Given the description of an element on the screen output the (x, y) to click on. 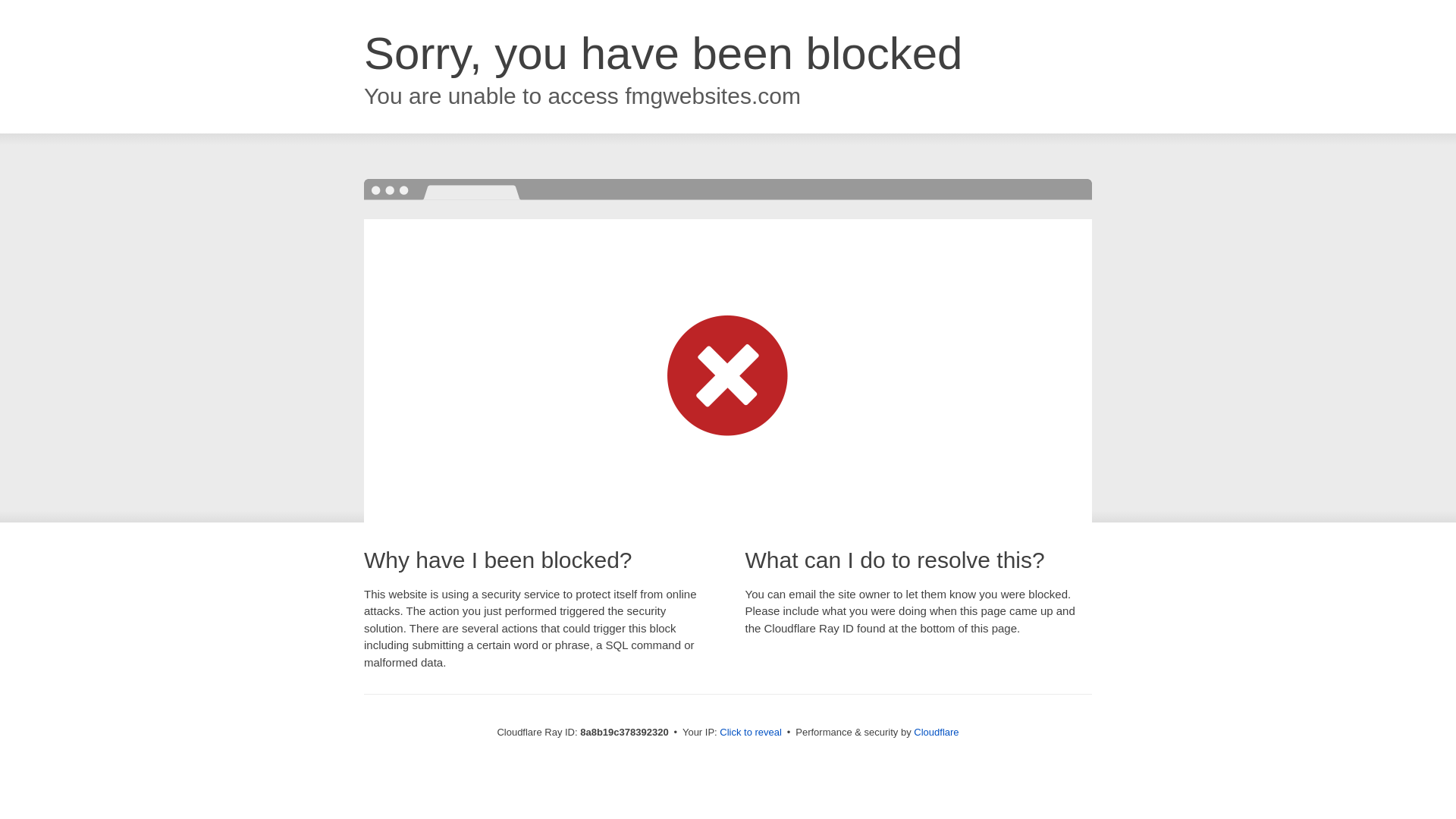
Click to reveal (750, 732)
Cloudflare (936, 731)
